Given the description of an element on the screen output the (x, y) to click on. 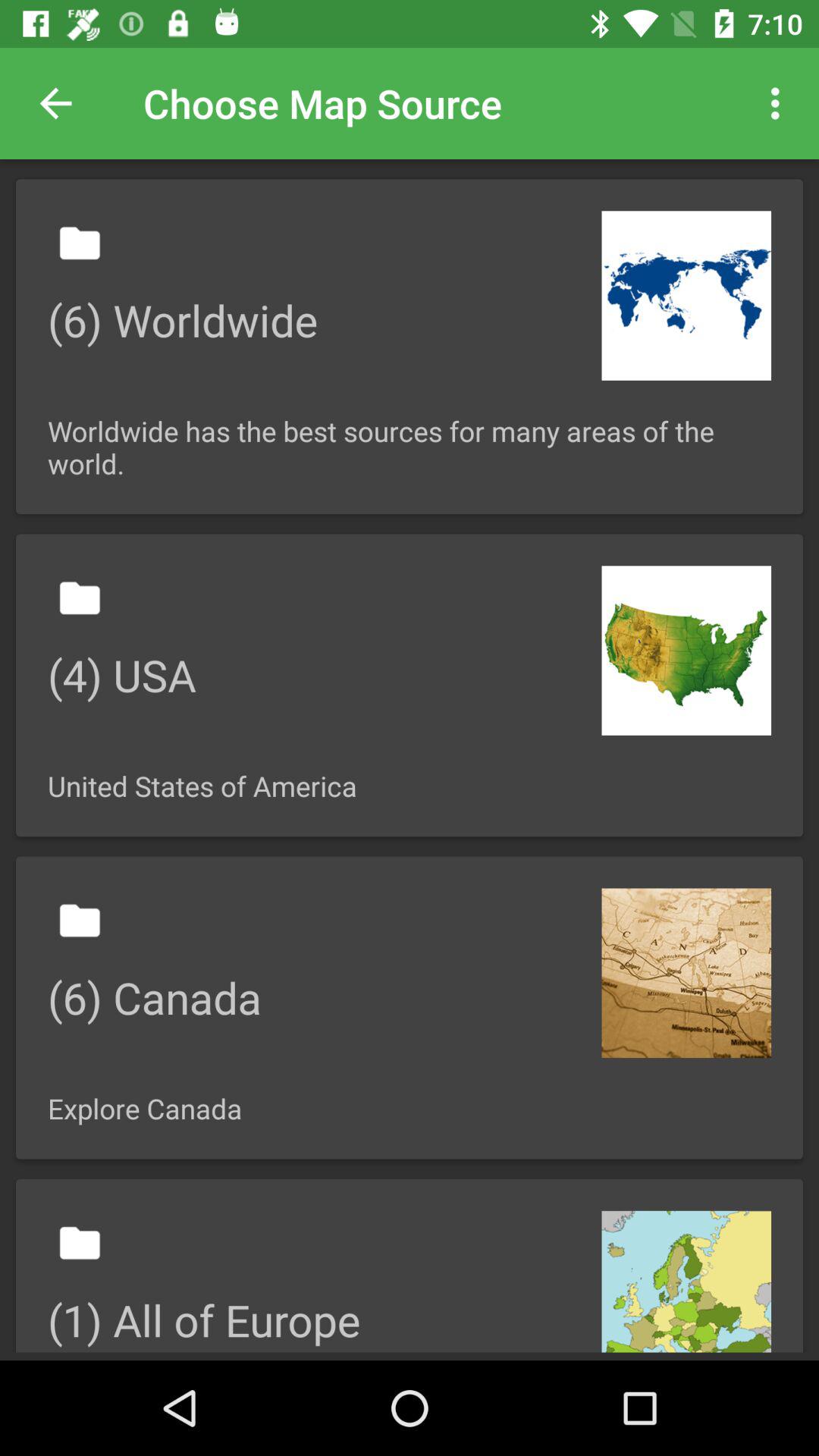
press icon next to the choose map source icon (55, 103)
